Given the description of an element on the screen output the (x, y) to click on. 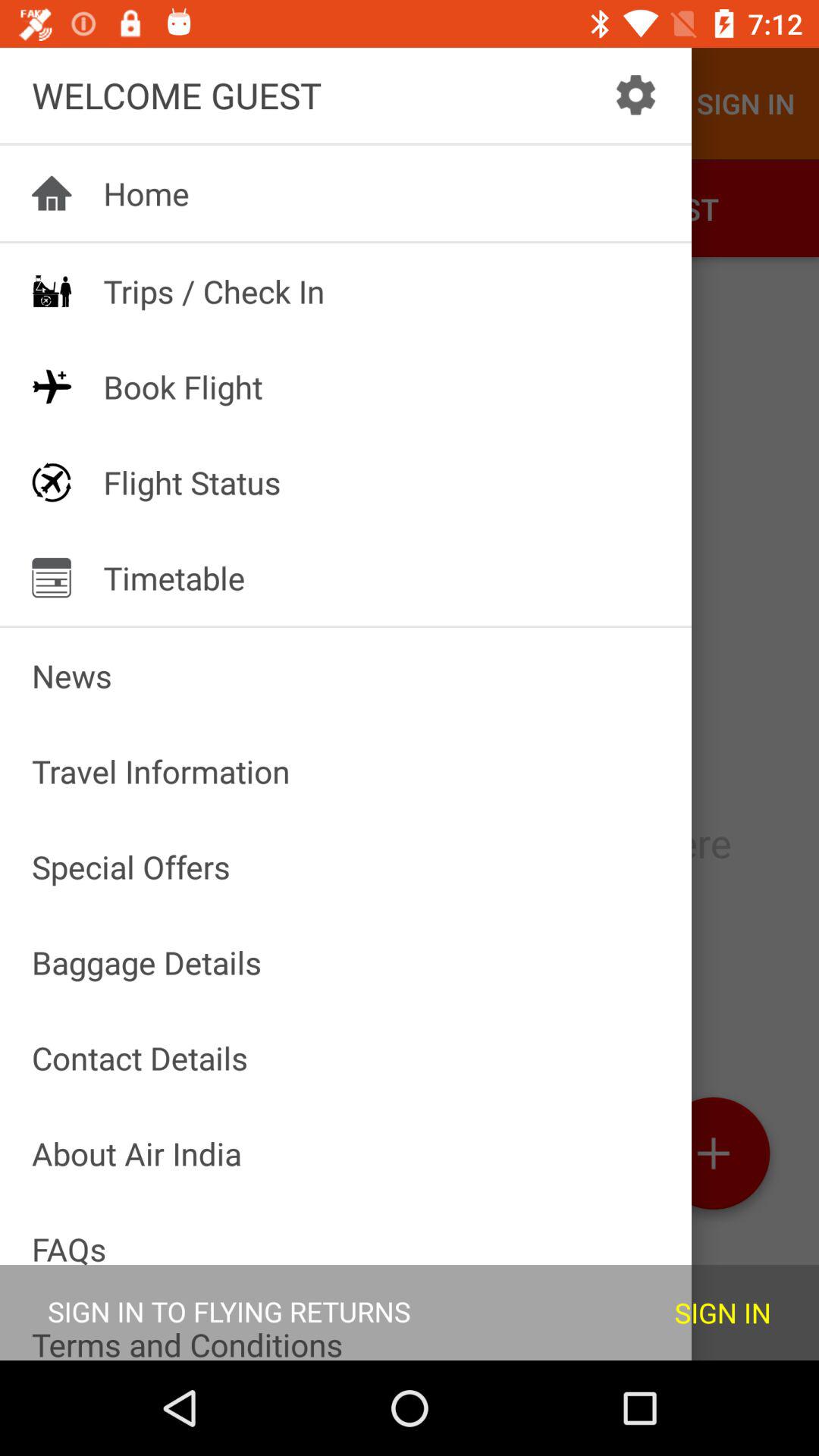
click the flight status icon (51, 482)
select the icon to the left of home (51, 192)
